Given the description of an element on the screen output the (x, y) to click on. 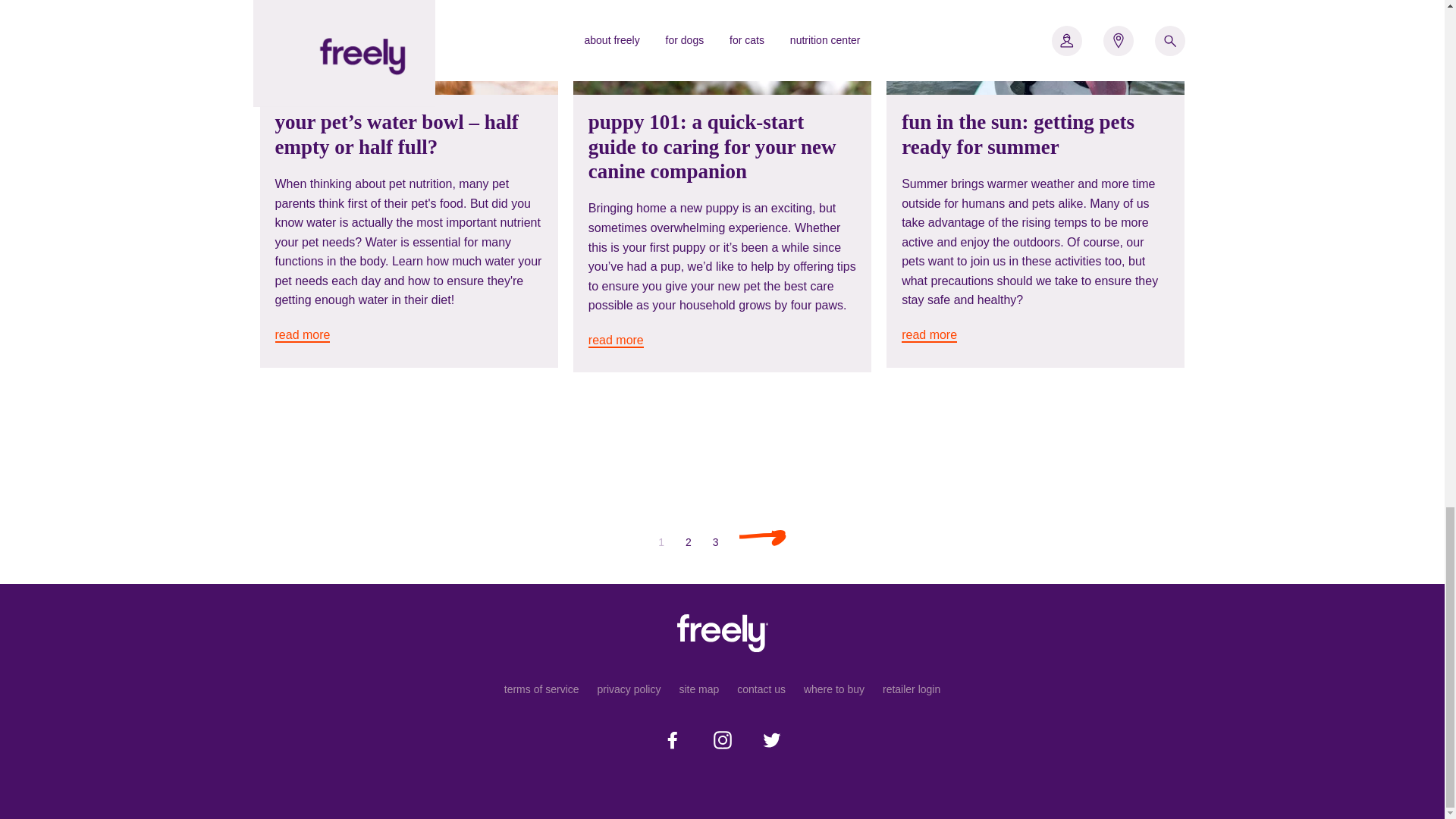
Freely on Facebook (672, 740)
Freely (722, 632)
Freely on Instagram (721, 740)
Freely on Twitter (772, 740)
next (762, 537)
